Given the description of an element on the screen output the (x, y) to click on. 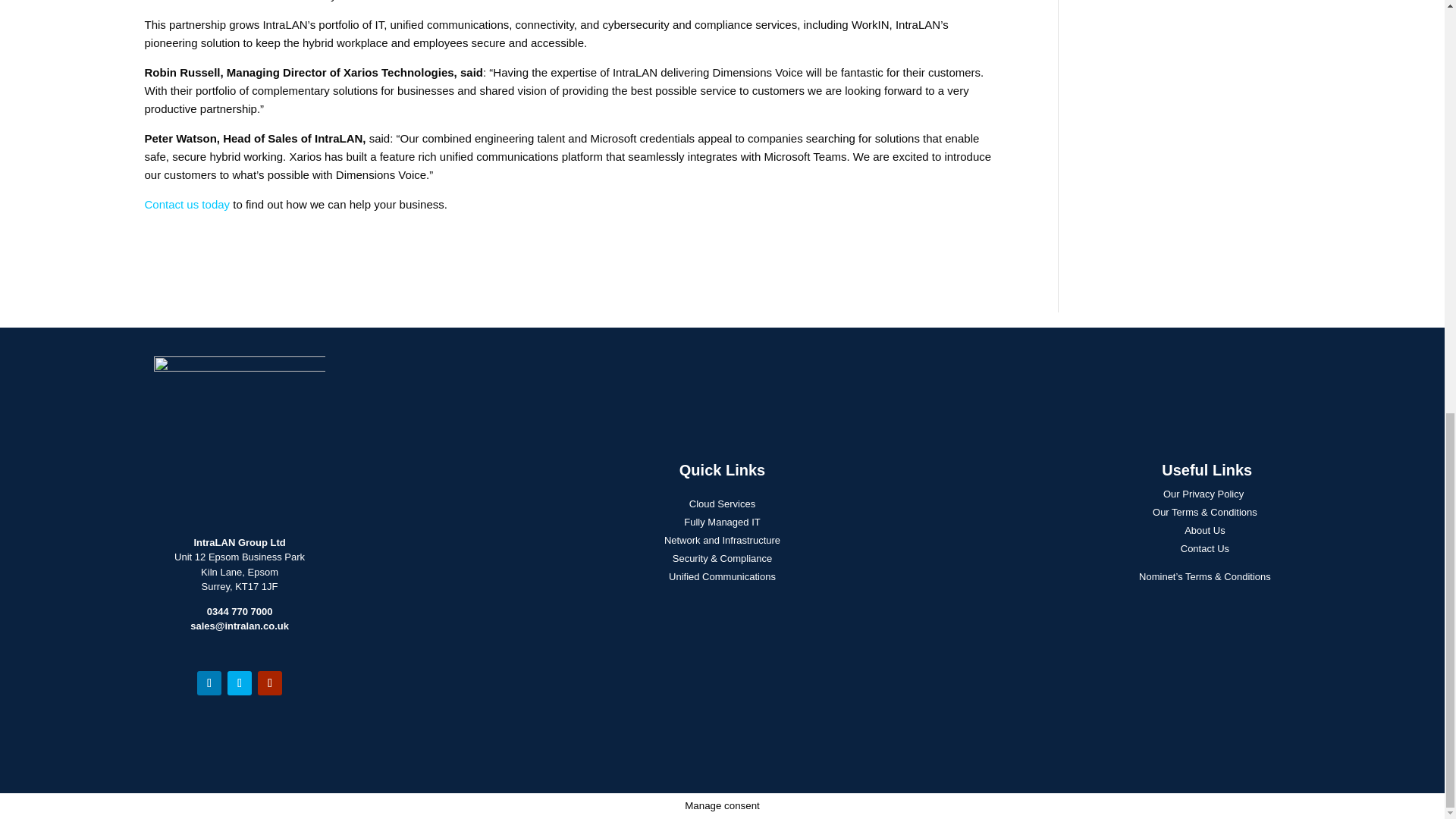
Network and Infrastructure (721, 540)
Cloud Services (721, 503)
Contact Us (1204, 548)
Our Privacy Policy (1203, 493)
Unified Communications (722, 576)
Follow on Twitter (239, 682)
About Us (1204, 530)
Fully Managed IT (722, 521)
Follow on Youtube (269, 682)
Contact us today (187, 204)
